Given the description of an element on the screen output the (x, y) to click on. 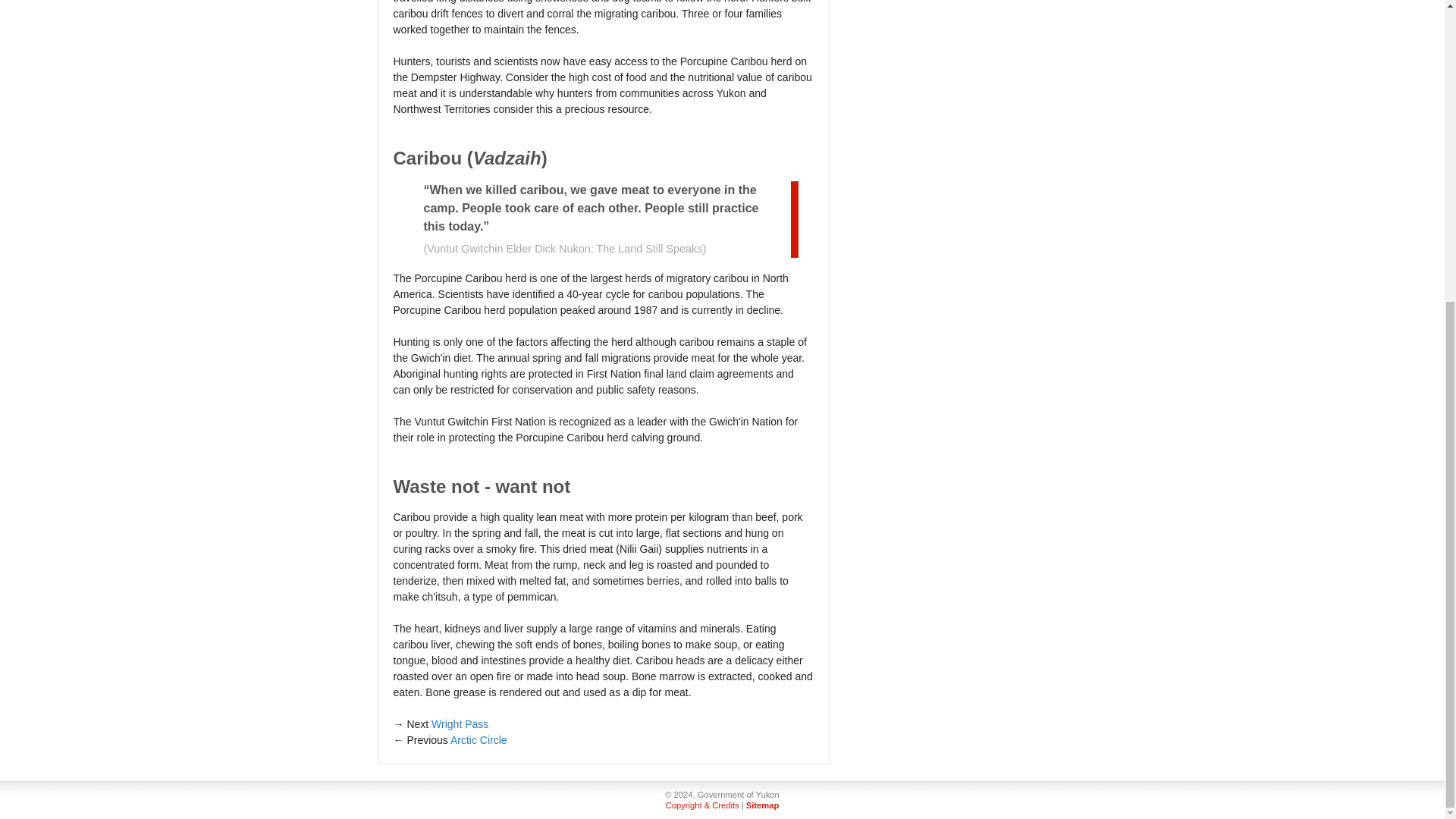
Wright Pass (458, 724)
Sitemap (761, 804)
Arctic Circle (477, 739)
